Given the description of an element on the screen output the (x, y) to click on. 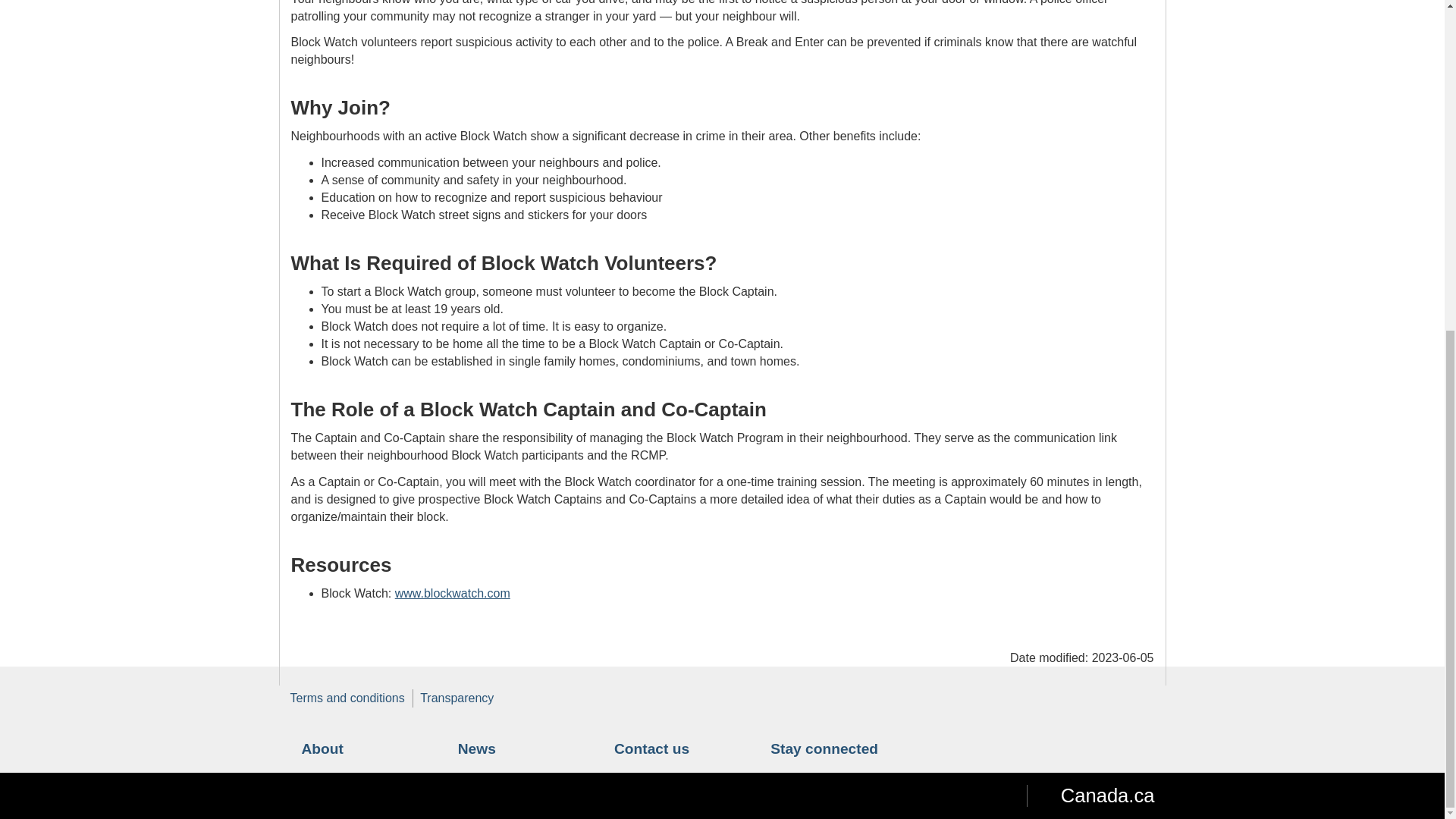
Terms and conditions (346, 697)
Canada.ca (1090, 795)
www.blockwatch.com (452, 593)
About (322, 748)
Transparency (456, 697)
Stay connected (823, 748)
Contact us (651, 748)
News (477, 748)
